Given the description of an element on the screen output the (x, y) to click on. 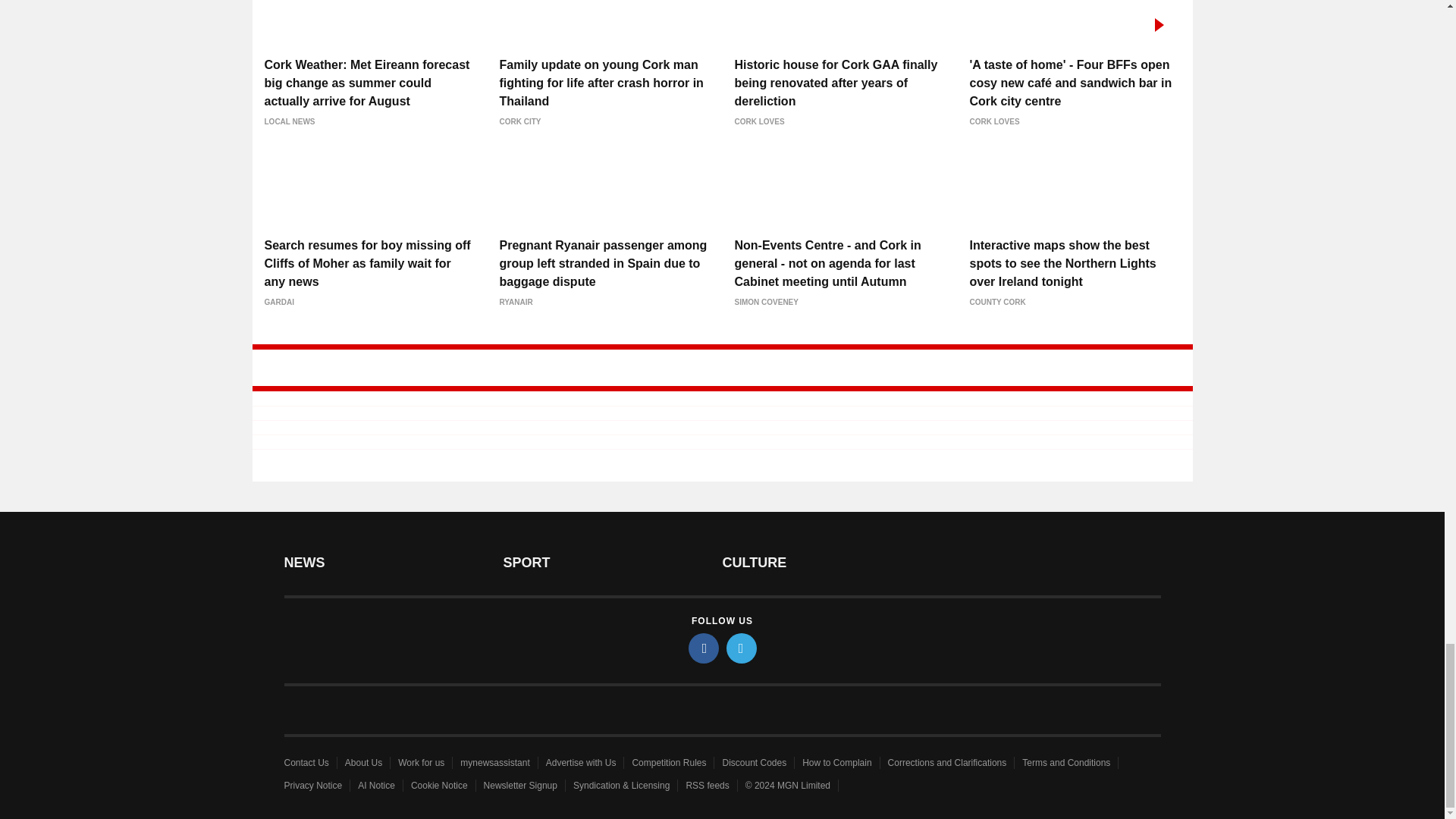
twitter (741, 648)
facebook (703, 648)
